Given the description of an element on the screen output the (x, y) to click on. 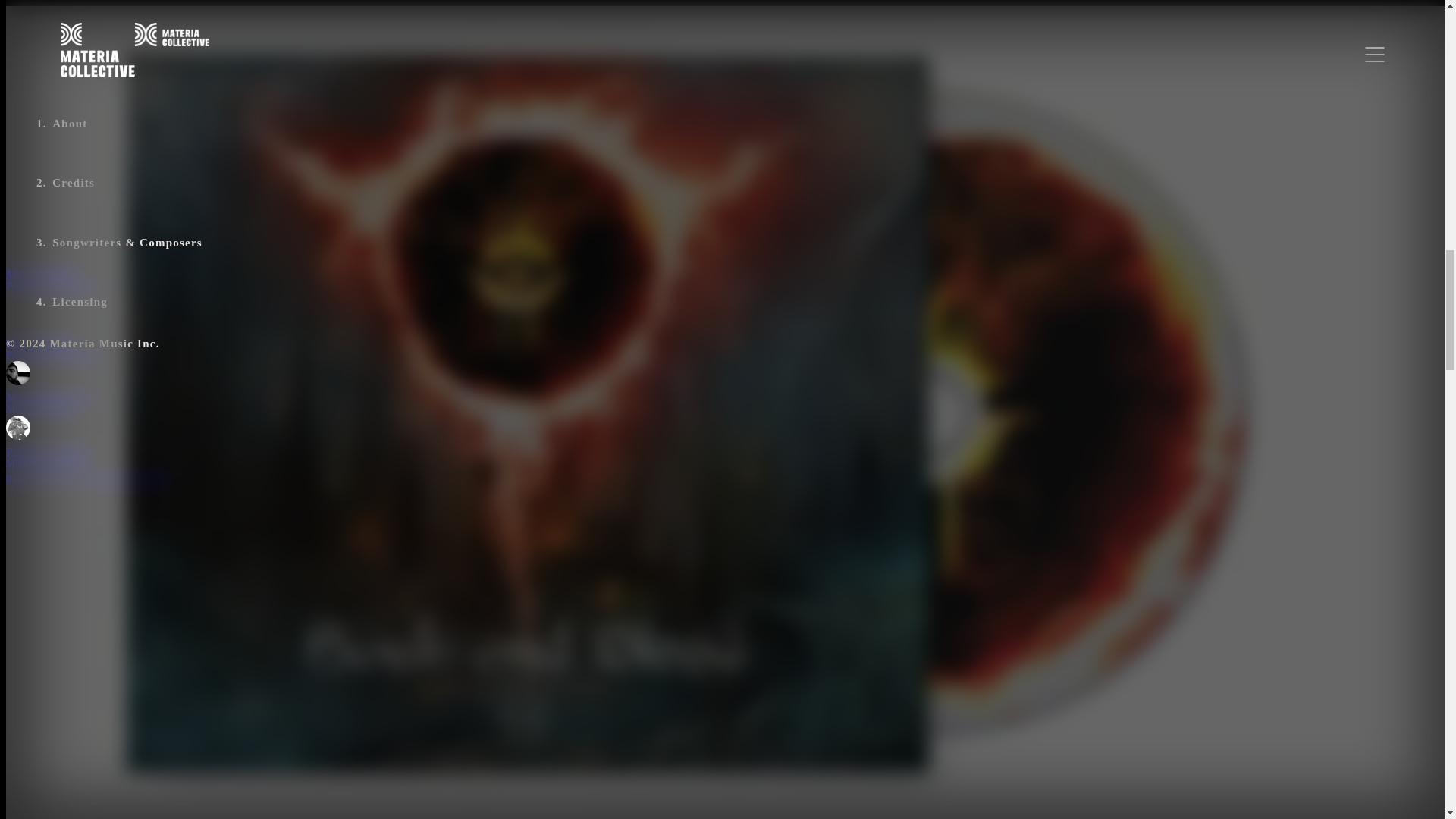
Throne of Want artists and credits (263, 177)
Report incorrect or missing information. (89, 479)
